Given the description of an element on the screen output the (x, y) to click on. 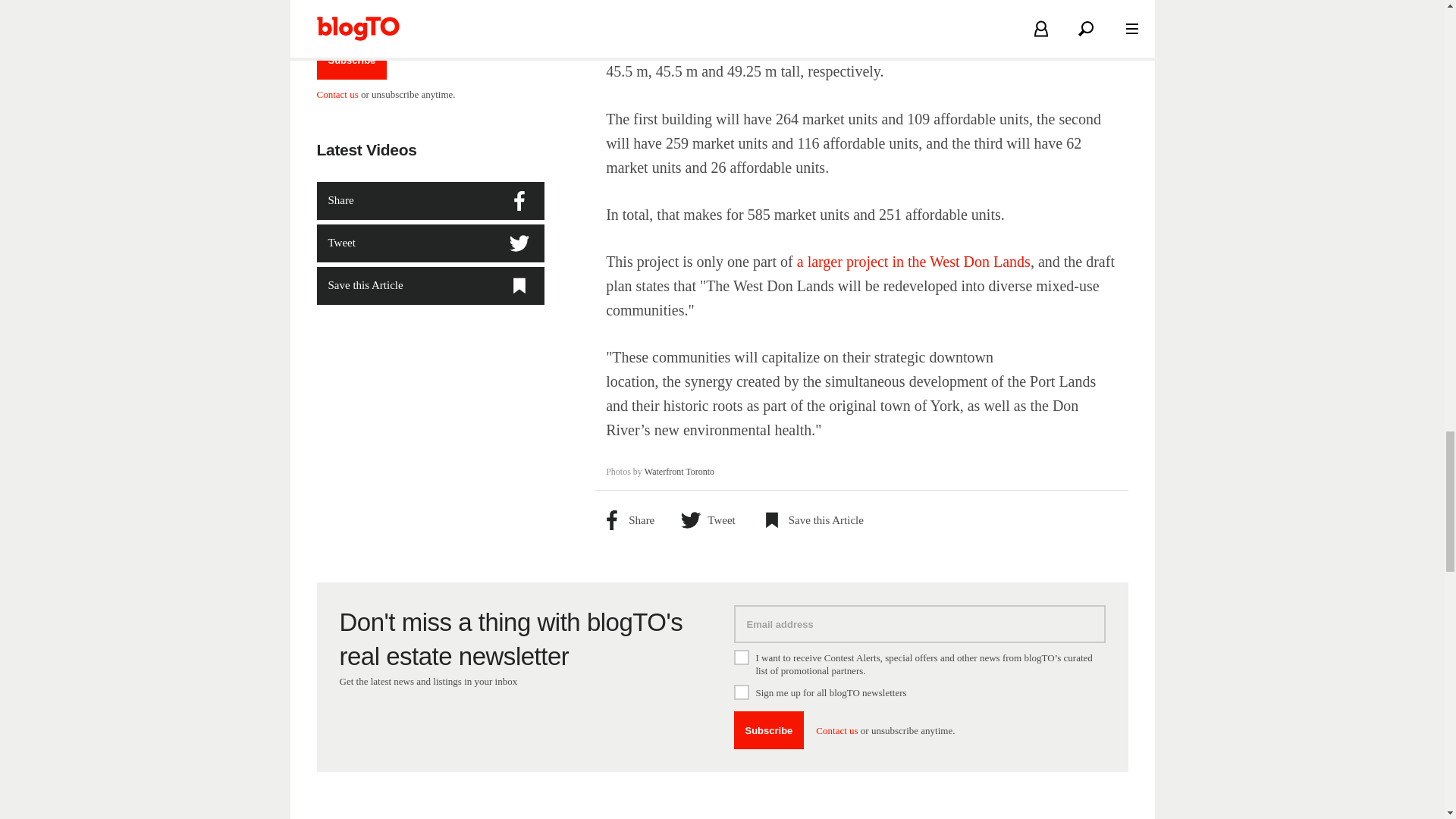
Subscribe (769, 730)
